Given the description of an element on the screen output the (x, y) to click on. 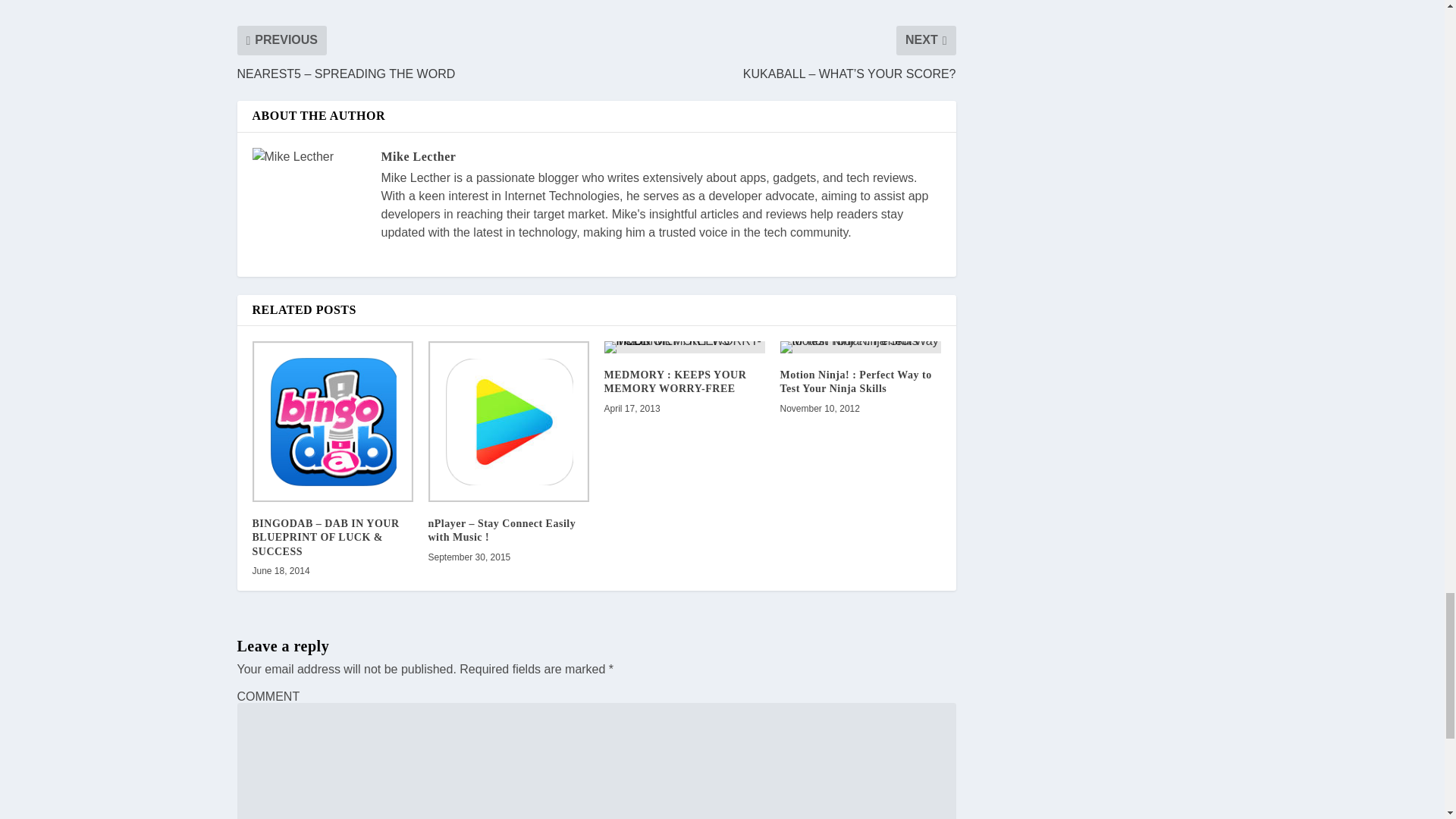
Mike Lecther (417, 155)
Motion Ninja! : Perfect Way to Test Your Ninja Skills (854, 381)
MEDMORY : KEEPS YOUR MEMORY WORRY-FREE (674, 381)
